Given the description of an element on the screen output the (x, y) to click on. 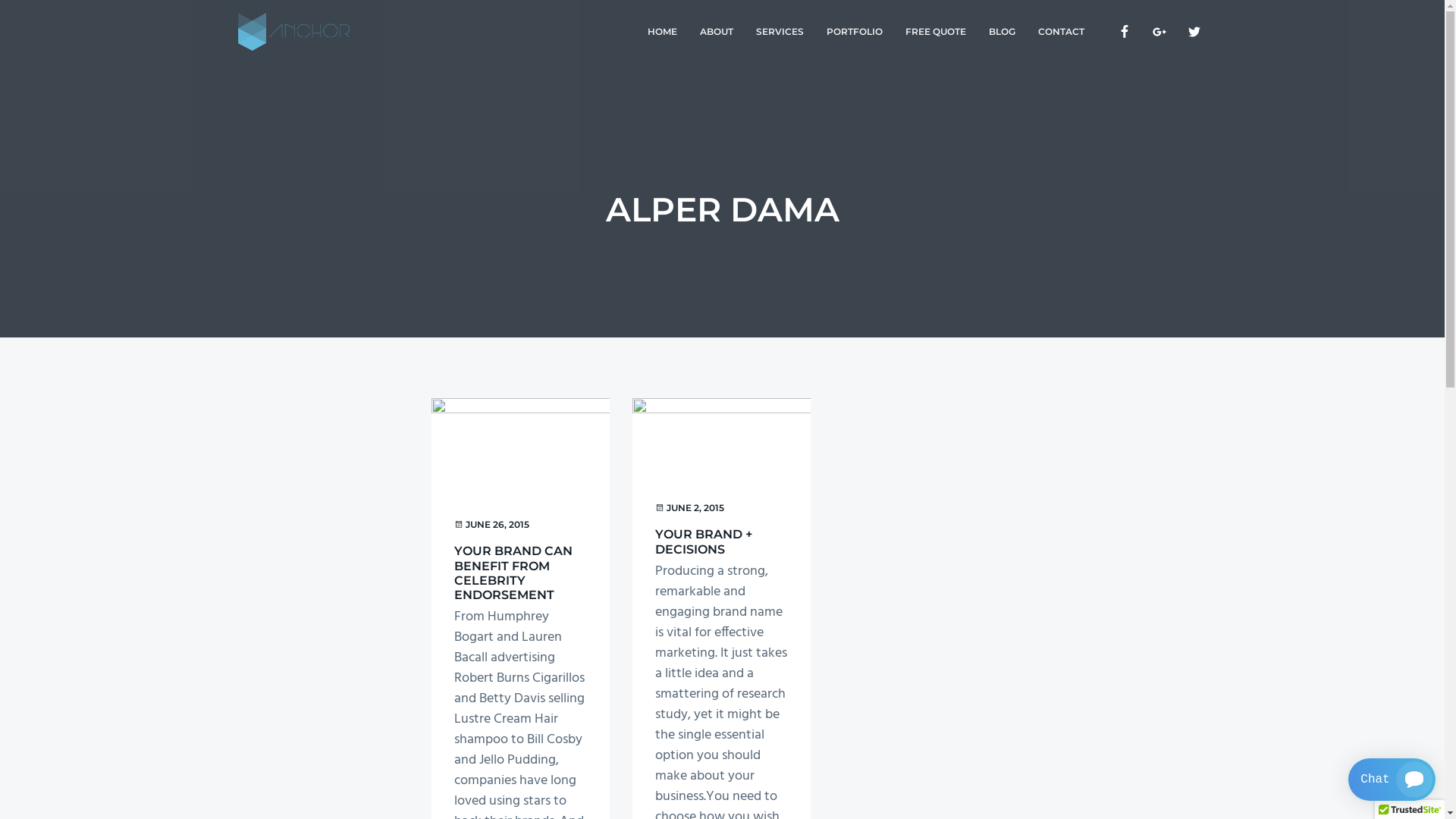
FREE QUOTE Element type: text (934, 31)
YOUR BRAND + DECISIONS Element type: text (703, 541)
HOME Element type: text (661, 31)
BLOG Element type: text (1001, 31)
PORTFOLIO Element type: text (853, 31)
SERVICES Element type: text (779, 31)
Smartsupp widget button Element type: hover (1391, 779)
YOUR BRAND CAN BENEFIT FROM CELEBRITY ENDORSEMENT Element type: text (512, 572)
ANCHOR BRANDING Element type: text (305, 56)
ABOUT Element type: text (716, 31)
CONTACT Element type: text (1060, 31)
Skip to primary navigation Element type: text (0, 0)
